Given the description of an element on the screen output the (x, y) to click on. 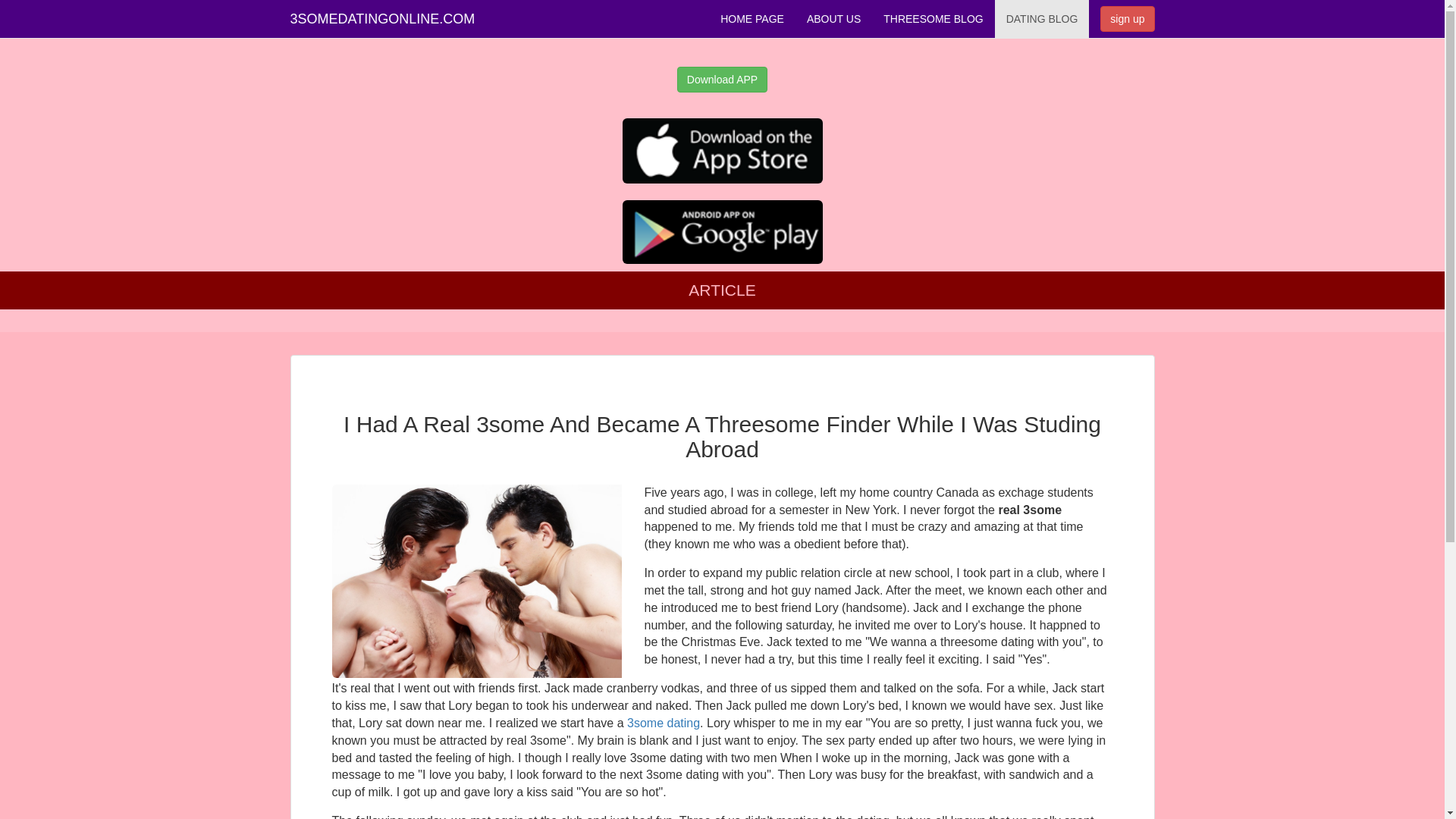
3SOMEDATINGONLINE.COM Element type: text (382, 18)
sign up Element type: text (1127, 18)
3some dating Element type: text (663, 722)
DATING BLOG Element type: text (1041, 18)
Download APP Element type: text (722, 79)
THREESOME BLOG Element type: text (933, 18)
Download APP Element type: text (722, 79)
sign up Element type: text (1127, 18)
ABOUT US Element type: text (833, 18)
HOME PAGE Element type: text (752, 18)
